Given the description of an element on the screen output the (x, y) to click on. 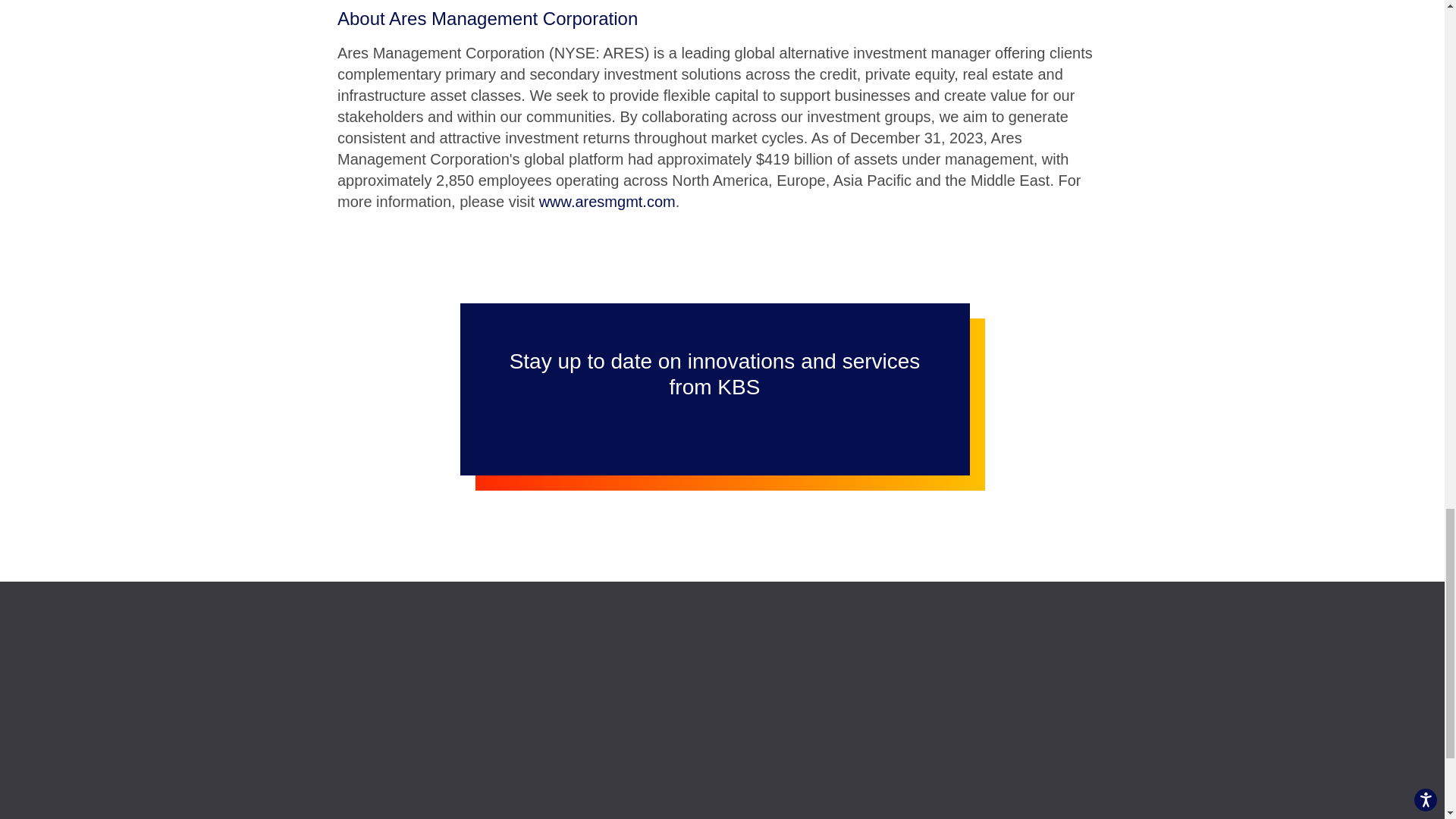
www.aresmgmt.com (606, 201)
